Given the description of an element on the screen output the (x, y) to click on. 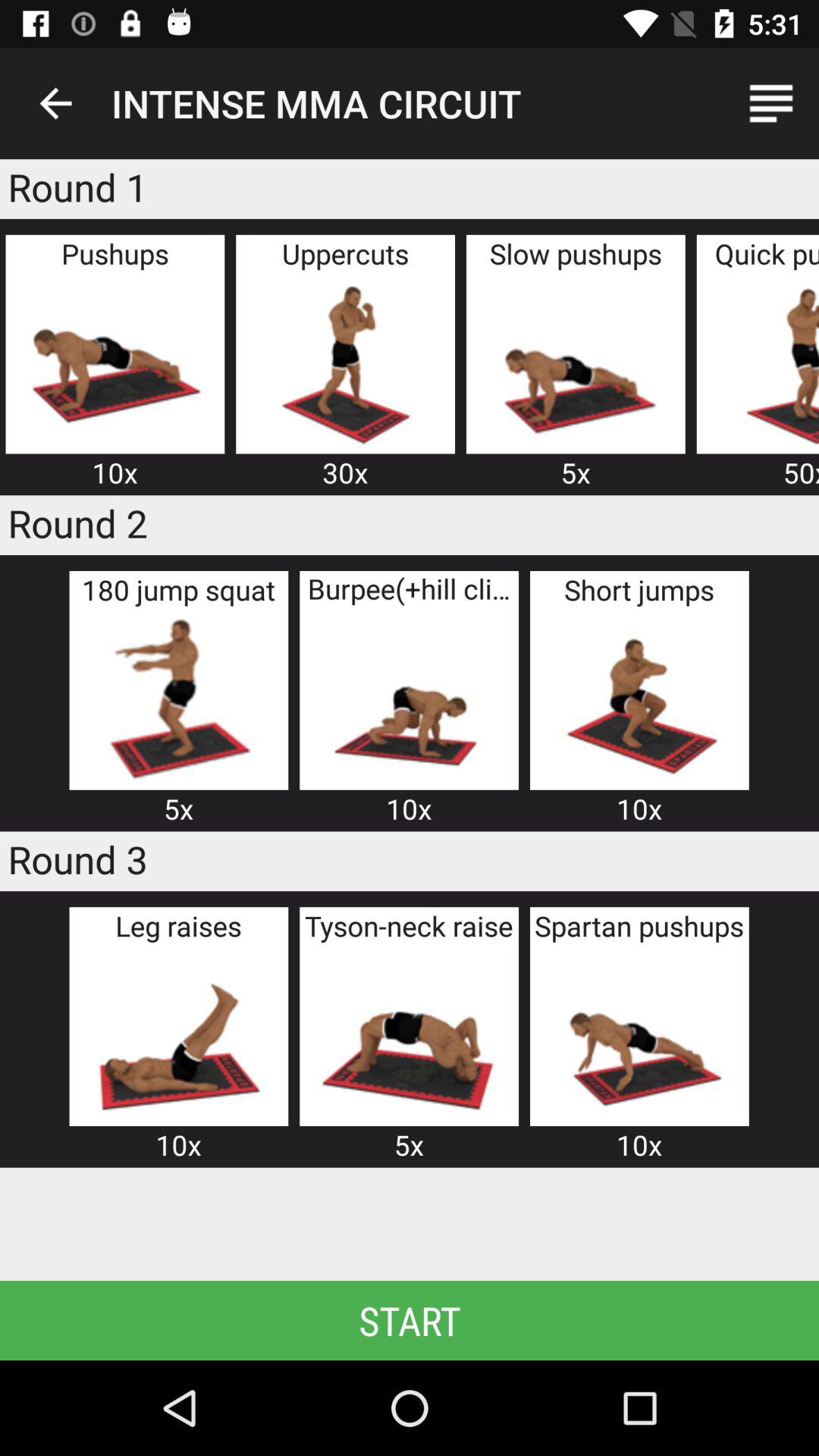
pushup (114, 362)
